Given the description of an element on the screen output the (x, y) to click on. 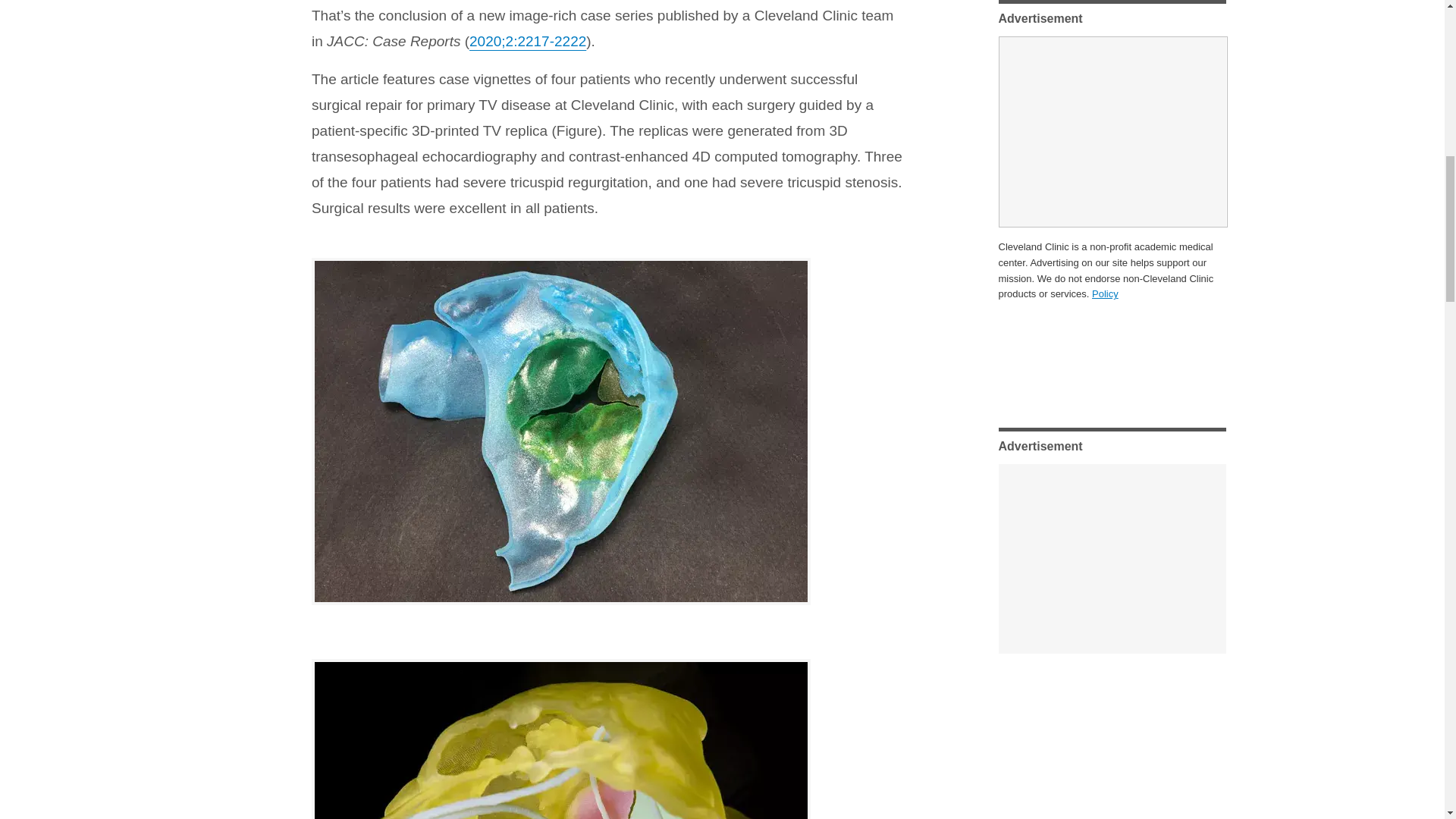
2020;2:2217-2222 (527, 41)
